Given the description of an element on the screen output the (x, y) to click on. 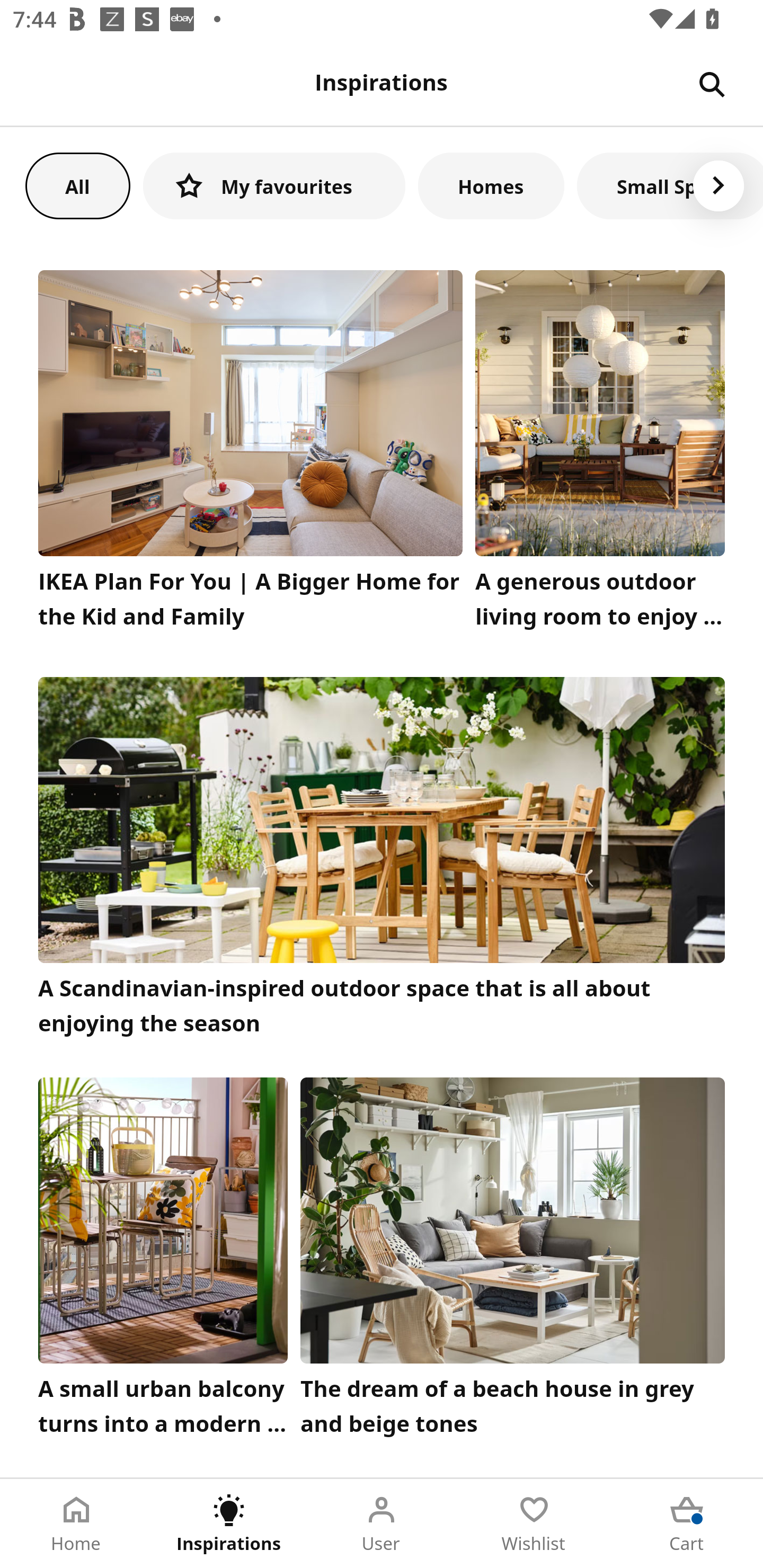
All (77, 185)
My favourites (274, 185)
Homes (491, 185)
The dream of a beach house in grey and beige tones (512, 1261)
Home
Tab 1 of 5 (76, 1522)
Inspirations
Tab 2 of 5 (228, 1522)
User
Tab 3 of 5 (381, 1522)
Wishlist
Tab 4 of 5 (533, 1522)
Cart
Tab 5 of 5 (686, 1522)
